Given the description of an element on the screen output the (x, y) to click on. 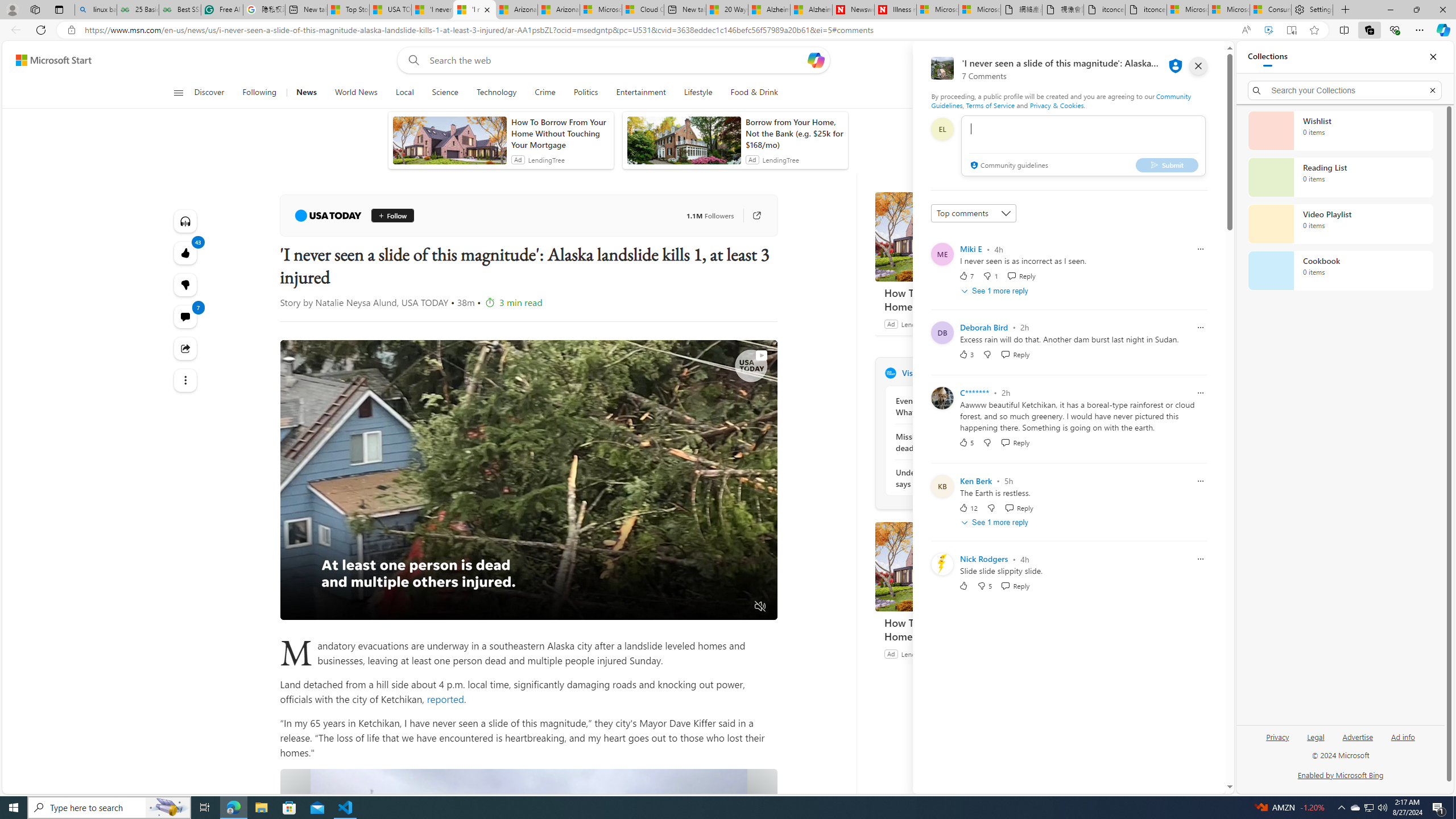
Exit search (1432, 90)
Visit USA TODAY website (1031, 372)
USA TODAY (889, 372)
5 Like (965, 441)
Unmute (759, 606)
itconcepthk.com/projector_solutions.mp4 (1146, 9)
close (1198, 65)
Community Guidelines (1060, 100)
Reply Reply Comment (1015, 585)
7 Like (965, 275)
